Given the description of an element on the screen output the (x, y) to click on. 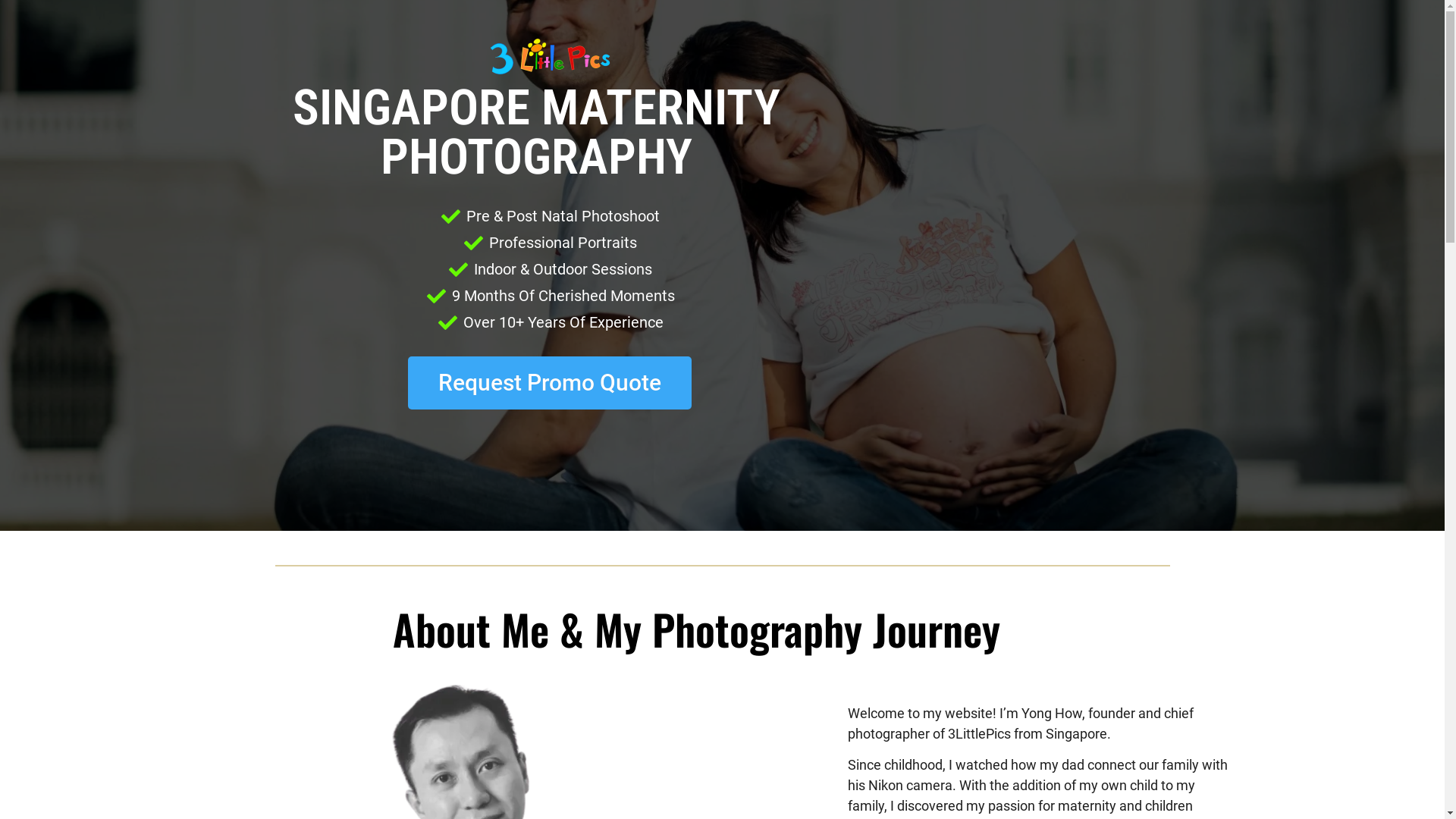
Request Promo Quote Element type: text (549, 382)
